Given the description of an element on the screen output the (x, y) to click on. 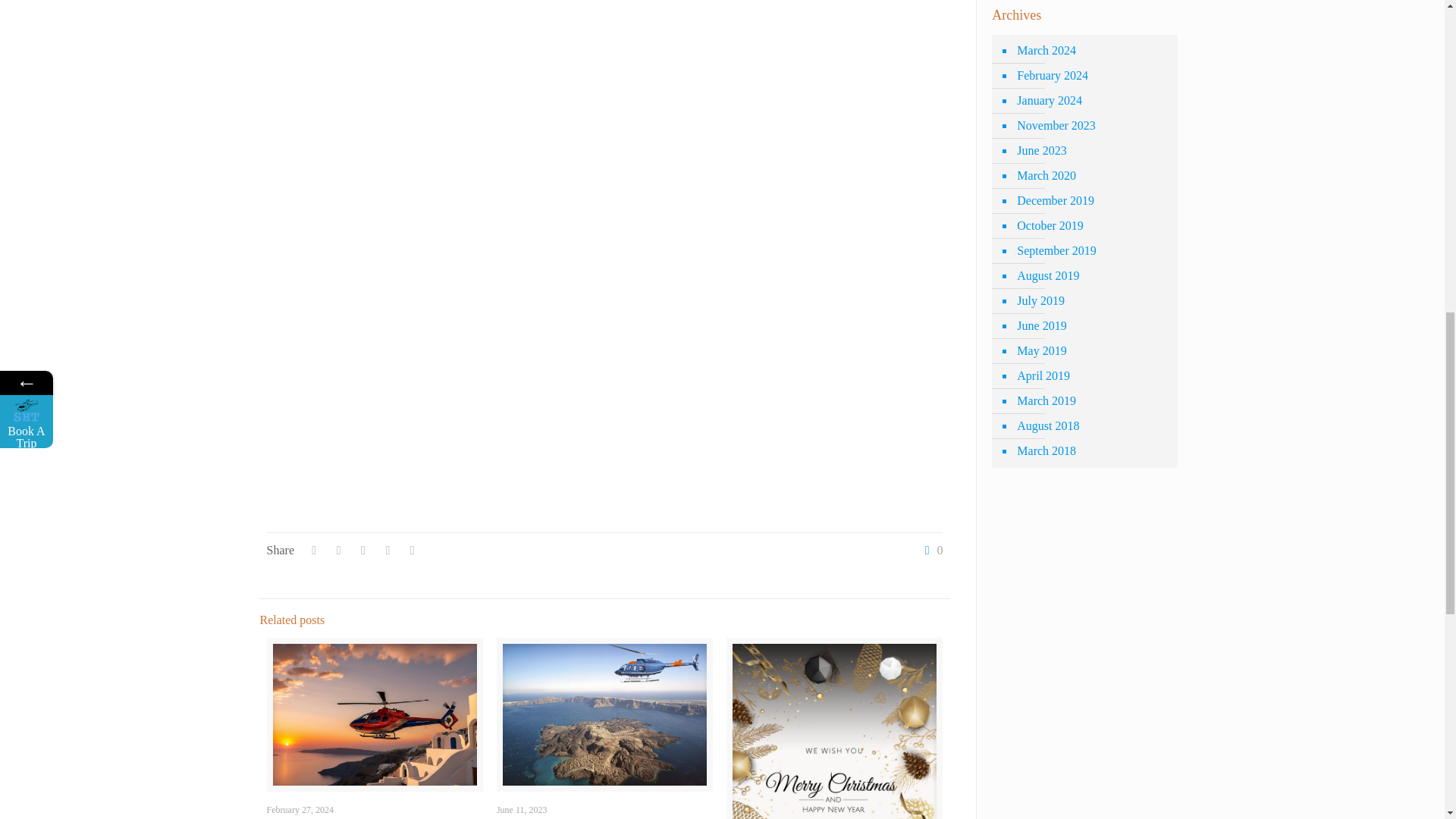
0 (930, 550)
